Given the description of an element on the screen output the (x, y) to click on. 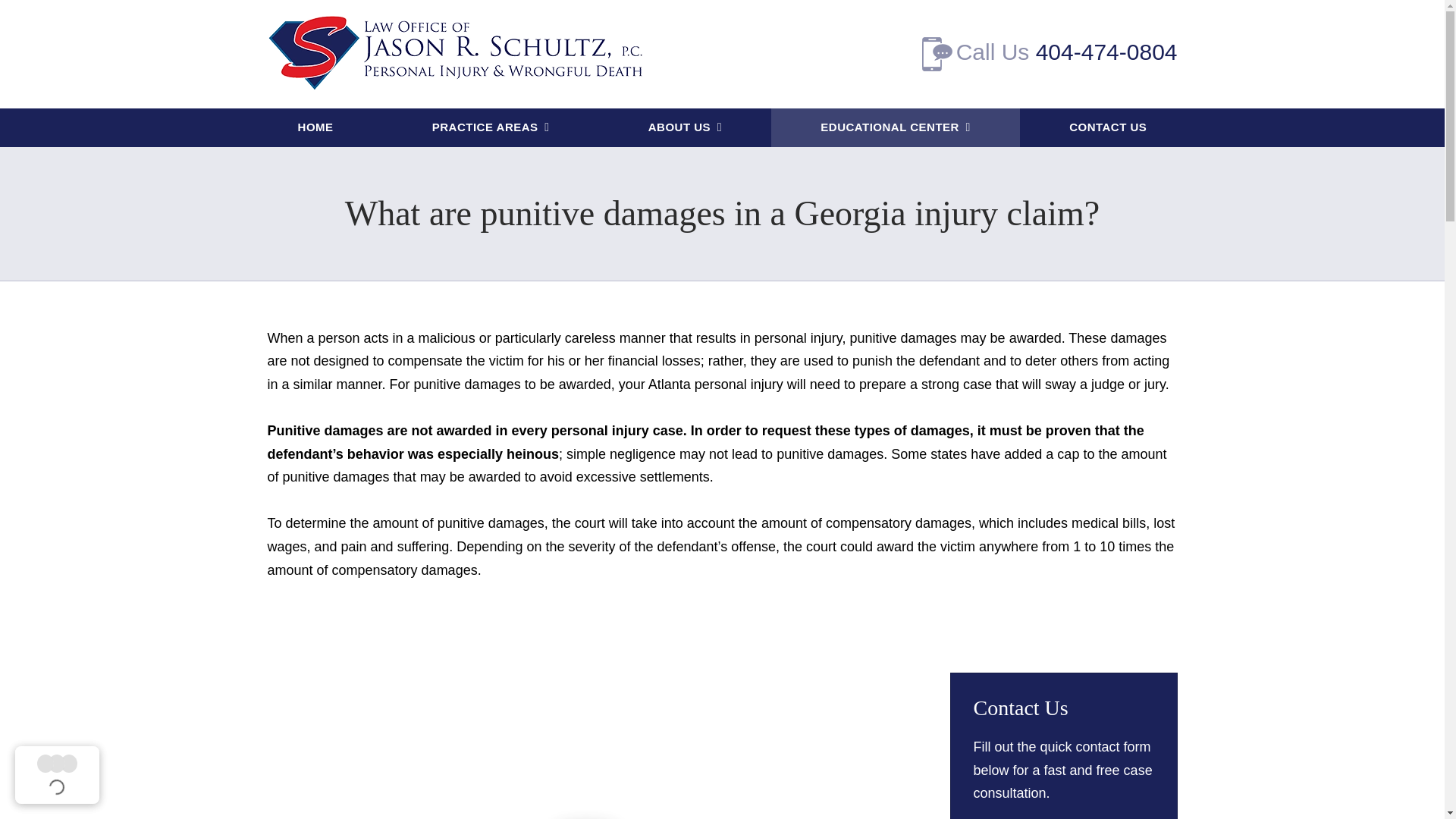
EDUCATIONAL CENTER (895, 127)
HOME (315, 127)
PRACTICE AREAS (490, 127)
ABOUT US (684, 127)
CONTACT US (1107, 127)
404-474-0804 (1106, 51)
